Given the description of an element on the screen output the (x, y) to click on. 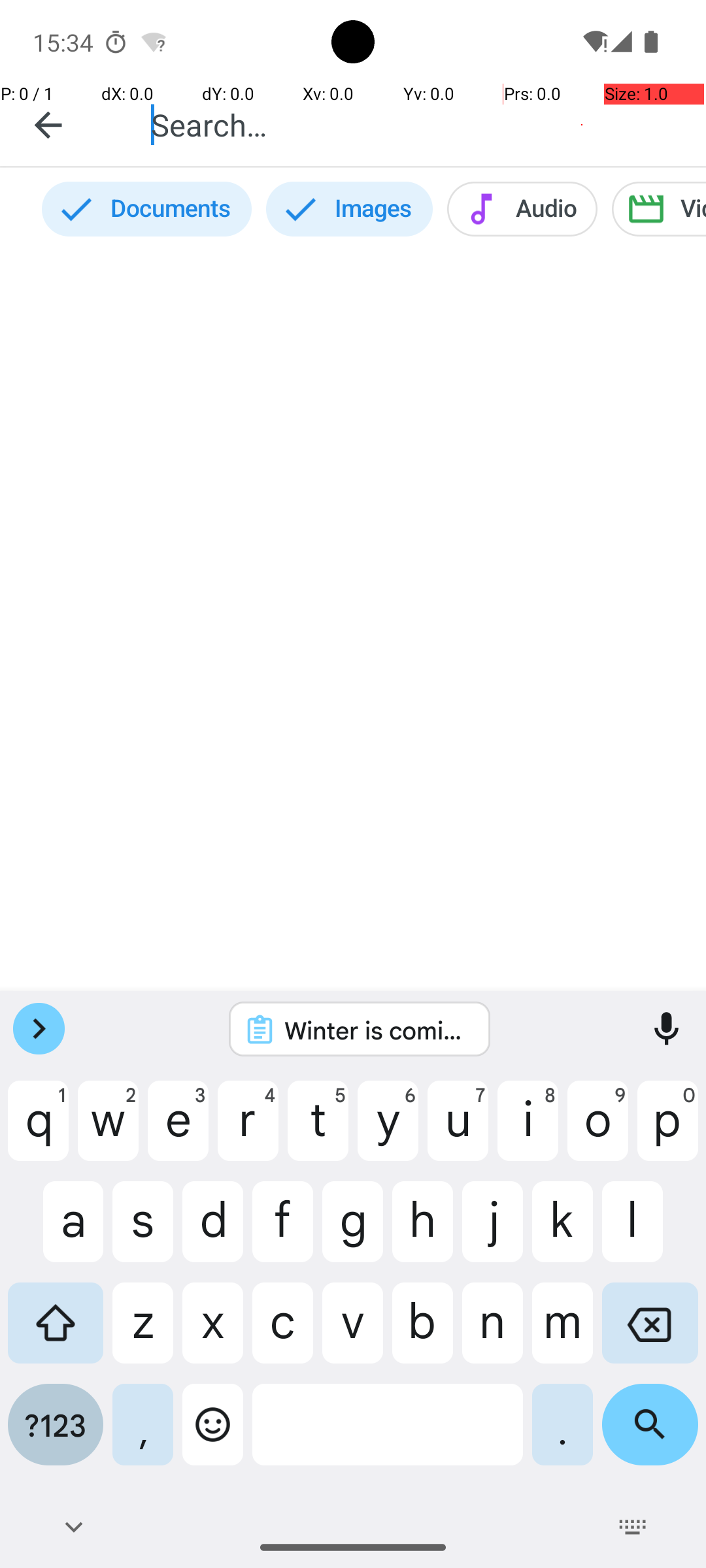
Winter is coming. Element type: android.widget.TextView (376, 1029)
